Given the description of an element on the screen output the (x, y) to click on. 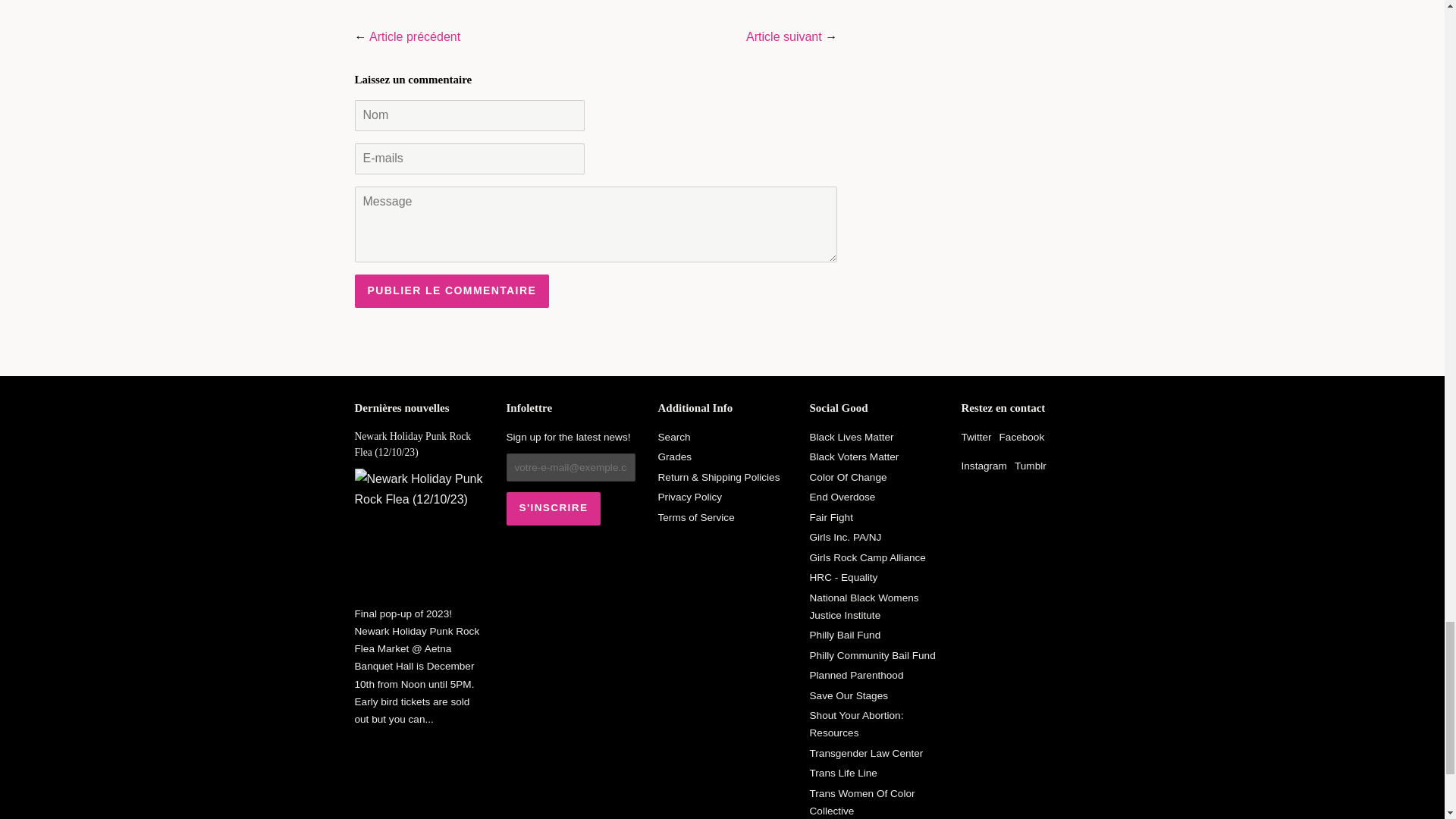
S'inscrire (553, 508)
Publier le commentaire (452, 290)
